Given the description of an element on the screen output the (x, y) to click on. 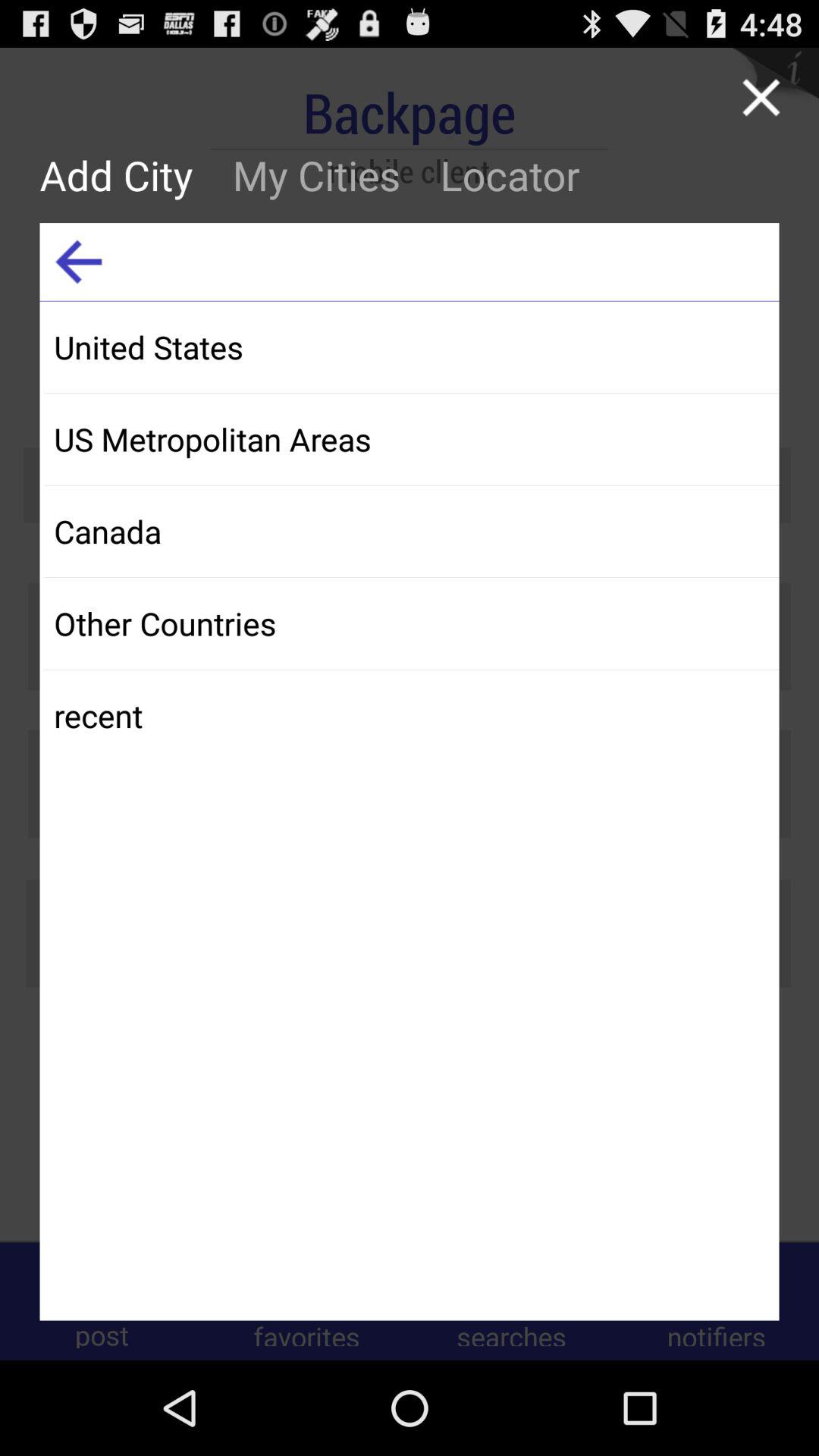
press app below the united states icon (411, 438)
